Given the description of an element on the screen output the (x, y) to click on. 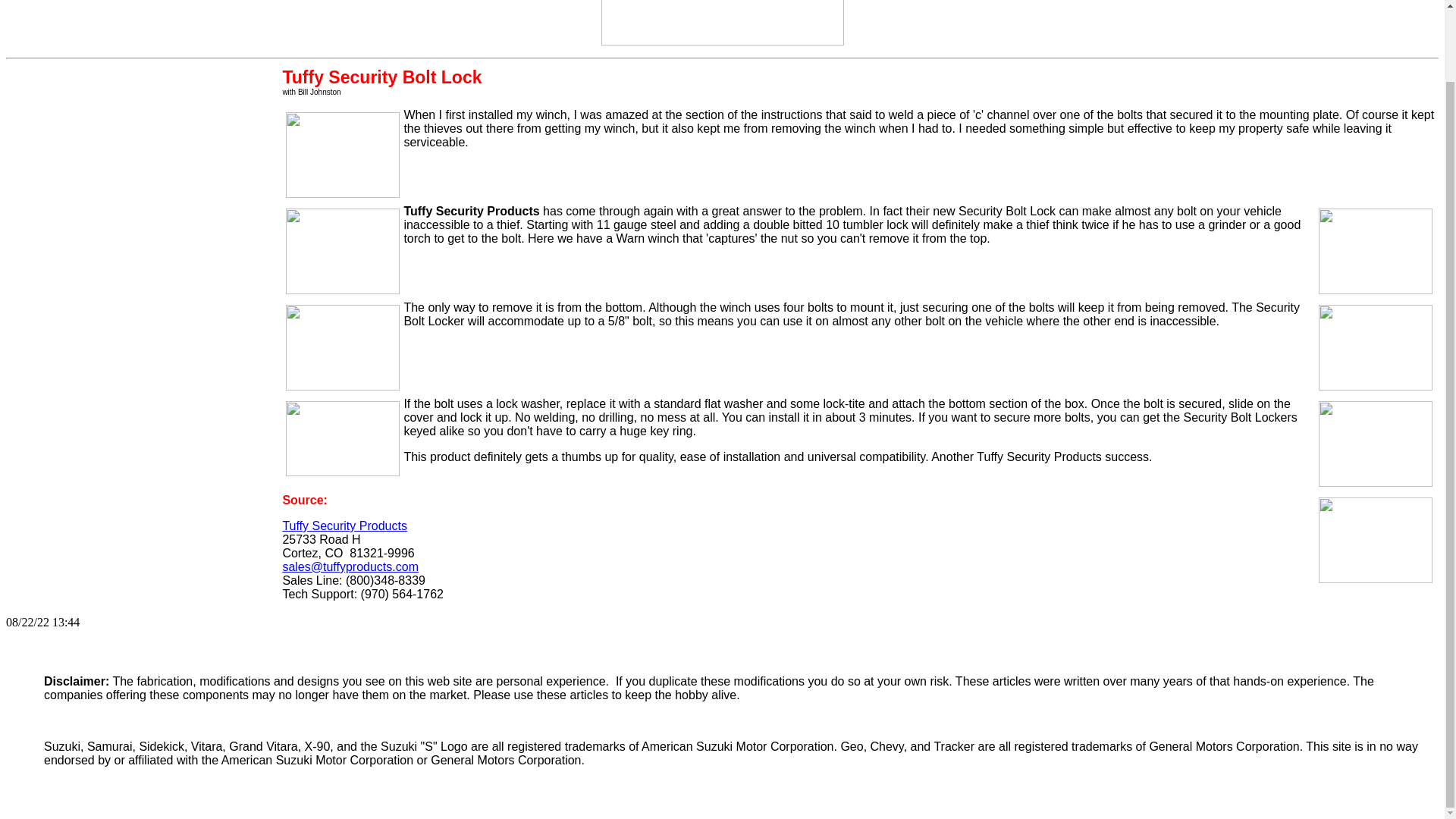
Tuffy Security Products (344, 525)
